Given the description of an element on the screen output the (x, y) to click on. 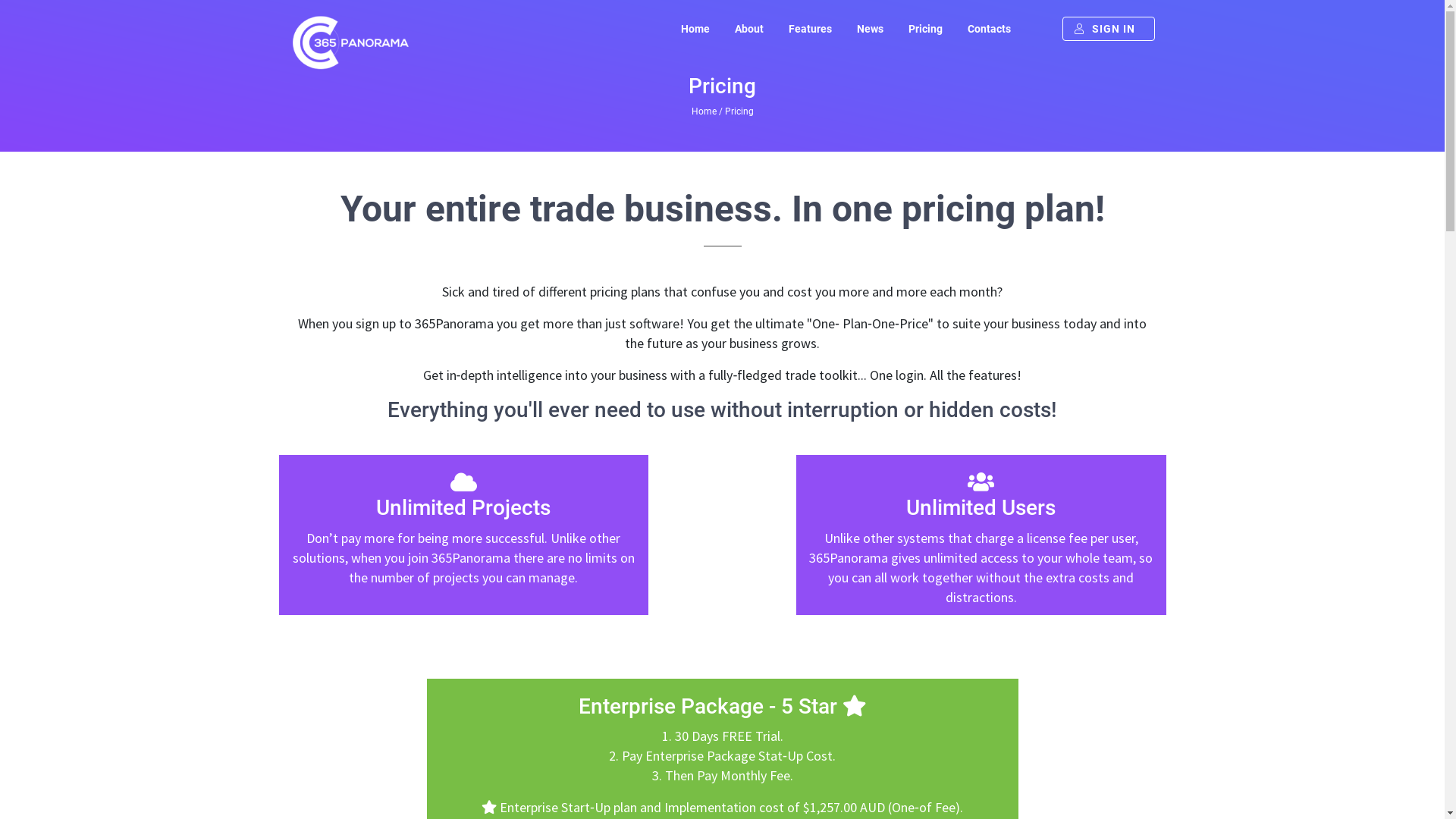
About Element type: text (749, 29)
SIGN IN Element type: text (1107, 28)
Contacts Element type: text (988, 29)
News Element type: text (869, 29)
Pricing Element type: text (924, 29)
Home Element type: text (694, 29)
Home Element type: text (703, 111)
Features Element type: text (809, 29)
